Given the description of an element on the screen output the (x, y) to click on. 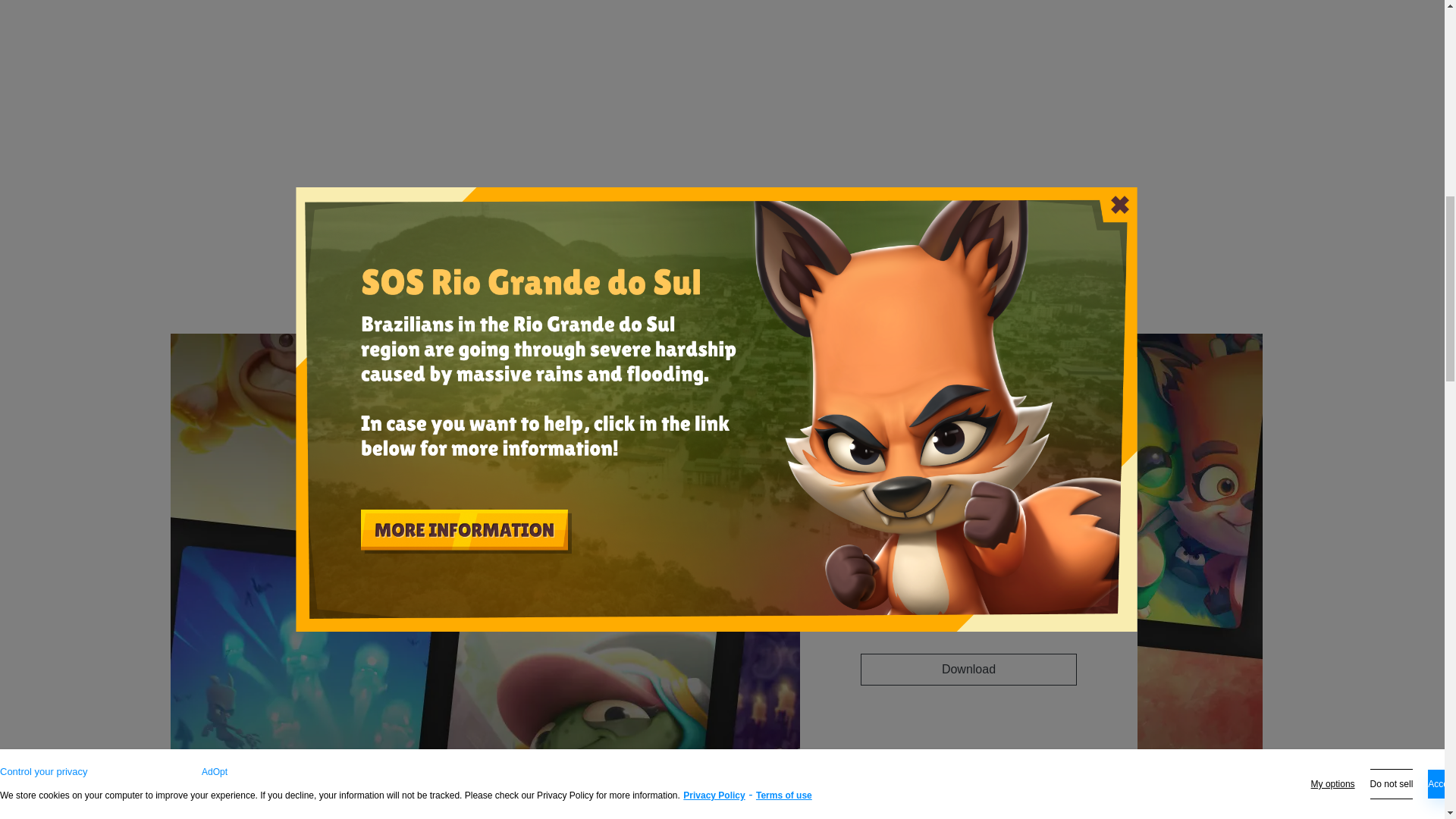
Download (968, 669)
